Given the description of an element on the screen output the (x, y) to click on. 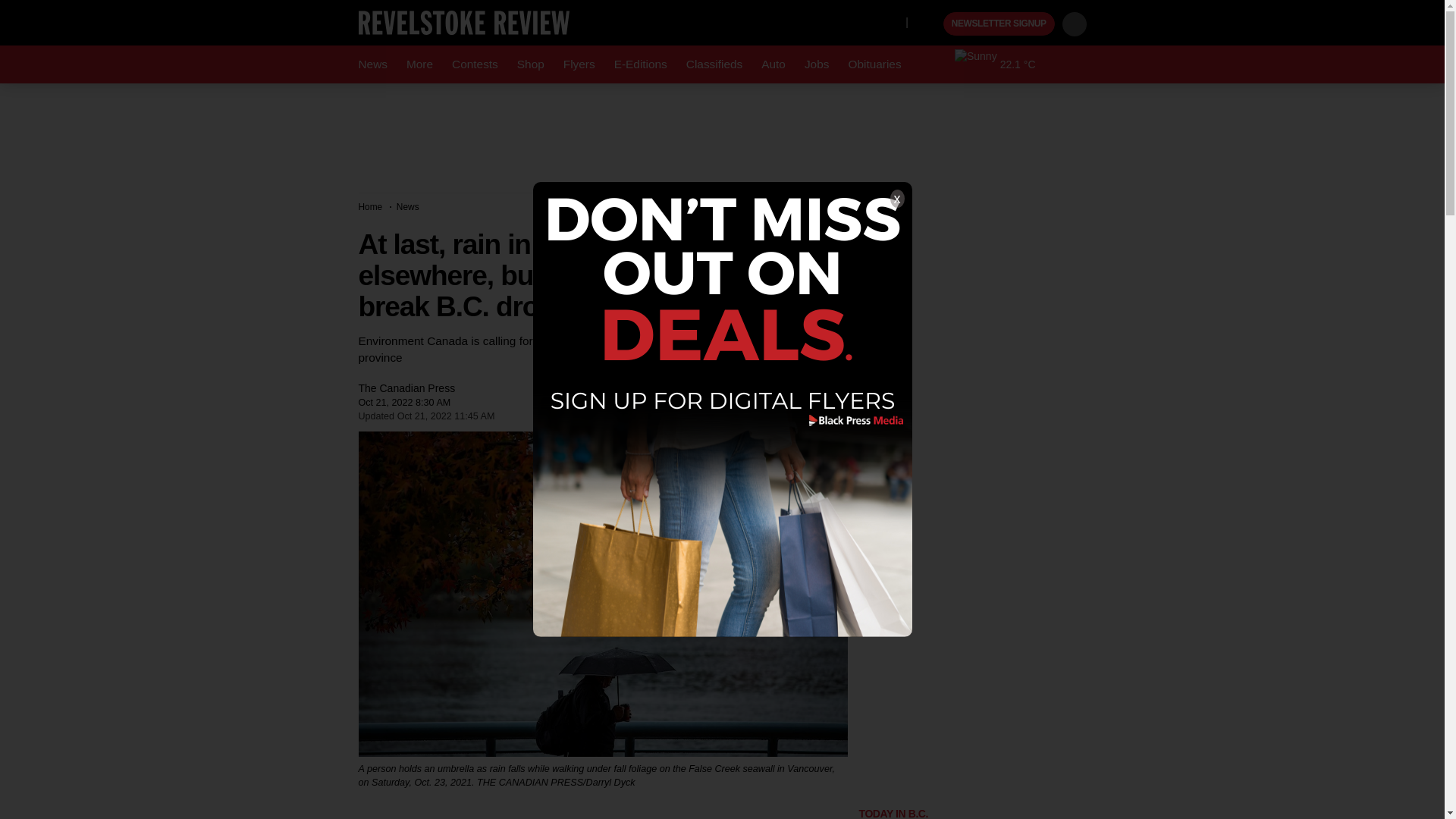
Play (929, 24)
X (889, 21)
NEWSLETTER SIGNUP (998, 24)
News (372, 64)
Black Press Media (929, 24)
